Given the description of an element on the screen output the (x, y) to click on. 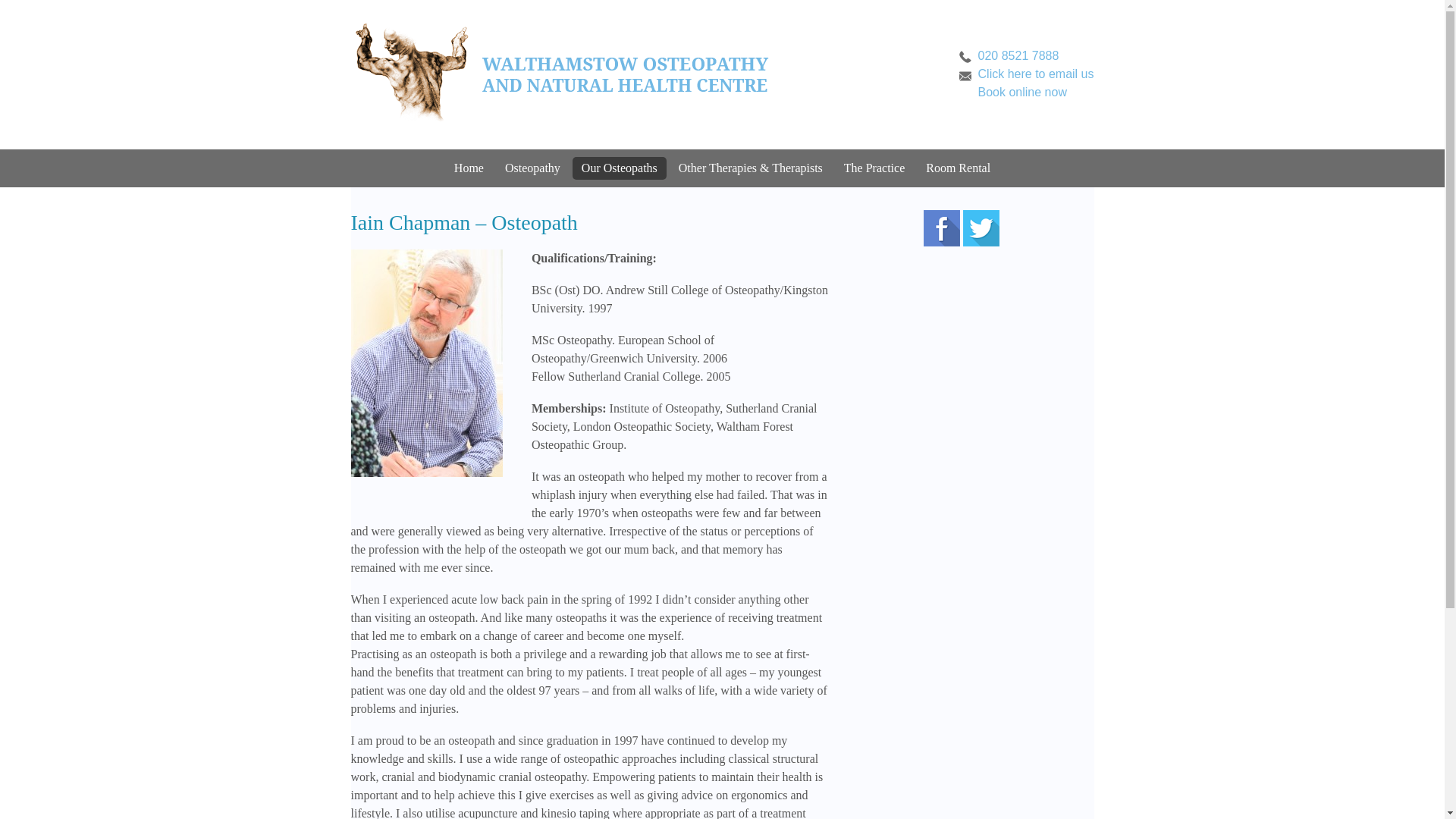
Home (469, 168)
Room Rental (957, 168)
Click here to email us (1036, 74)
The Practice (874, 168)
Book online now (1036, 92)
Our Osteopaths (619, 168)
Walthamstow Osteopathy and Natural Health Centre (561, 74)
Osteopathy (532, 168)
